Given the description of an element on the screen output the (x, y) to click on. 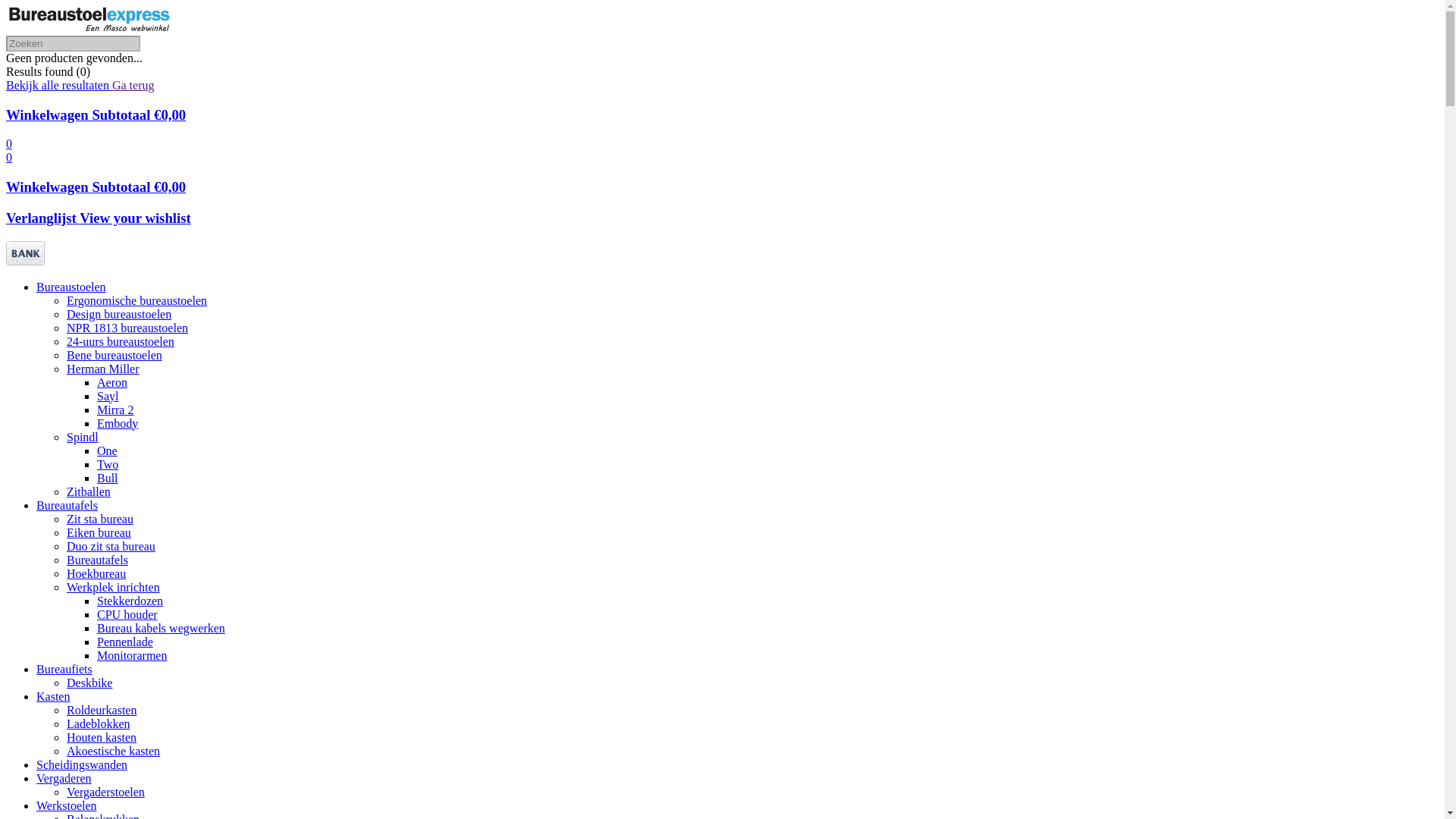
Sayl Element type: text (107, 395)
Eiken bureau Element type: text (98, 532)
Stekkerdozen Element type: text (130, 600)
0 Element type: text (9, 143)
0 Element type: text (9, 156)
Bureautafels Element type: text (66, 504)
Bank transfer Element type: hover (25, 260)
Ga terug Element type: text (133, 84)
Mirra 2 Element type: text (115, 409)
Bull Element type: text (107, 477)
Werkstoelen Element type: text (66, 805)
Embody Element type: text (117, 423)
Ladeblokken Element type: text (98, 723)
Pennenlade Element type: text (125, 641)
Bene bureaustoelen Element type: text (114, 354)
Bureautafels Element type: text (97, 559)
Aeron Element type: text (112, 382)
Houten kasten Element type: text (101, 737)
Bekijk alle resultaten Element type: text (59, 84)
Monitorarmen Element type: text (131, 655)
Zitballen Element type: text (88, 491)
Ergonomische bureaustoelen Element type: text (136, 300)
Spindl Element type: text (82, 436)
Roldeurkasten Element type: text (101, 709)
Scheidingswanden Element type: text (81, 764)
Vergaderen Element type: text (63, 777)
Hoekbureau Element type: text (95, 573)
Design bureaustoelen Element type: text (118, 313)
Akoestische kasten Element type: text (113, 750)
Deskbike Element type: text (89, 682)
Vergaderstoelen Element type: text (105, 791)
Herman Miller Element type: text (102, 368)
Zit sta bureau Element type: text (99, 518)
CPU houder Element type: text (127, 614)
Duo zit sta bureau Element type: text (110, 545)
Werkplek inrichten Element type: text (113, 586)
NPR 1813 bureaustoelen Element type: text (127, 327)
Two Element type: text (107, 464)
Bureau kabels wegwerken Element type: text (161, 627)
Bureaustoelen Element type: text (71, 286)
Verlanglijst View your wishlist Element type: text (98, 217)
Kasten Element type: text (52, 696)
24-uurs bureaustoelen Element type: text (120, 341)
One Element type: text (107, 450)
Bureaufiets Element type: text (64, 668)
